Given the description of an element on the screen output the (x, y) to click on. 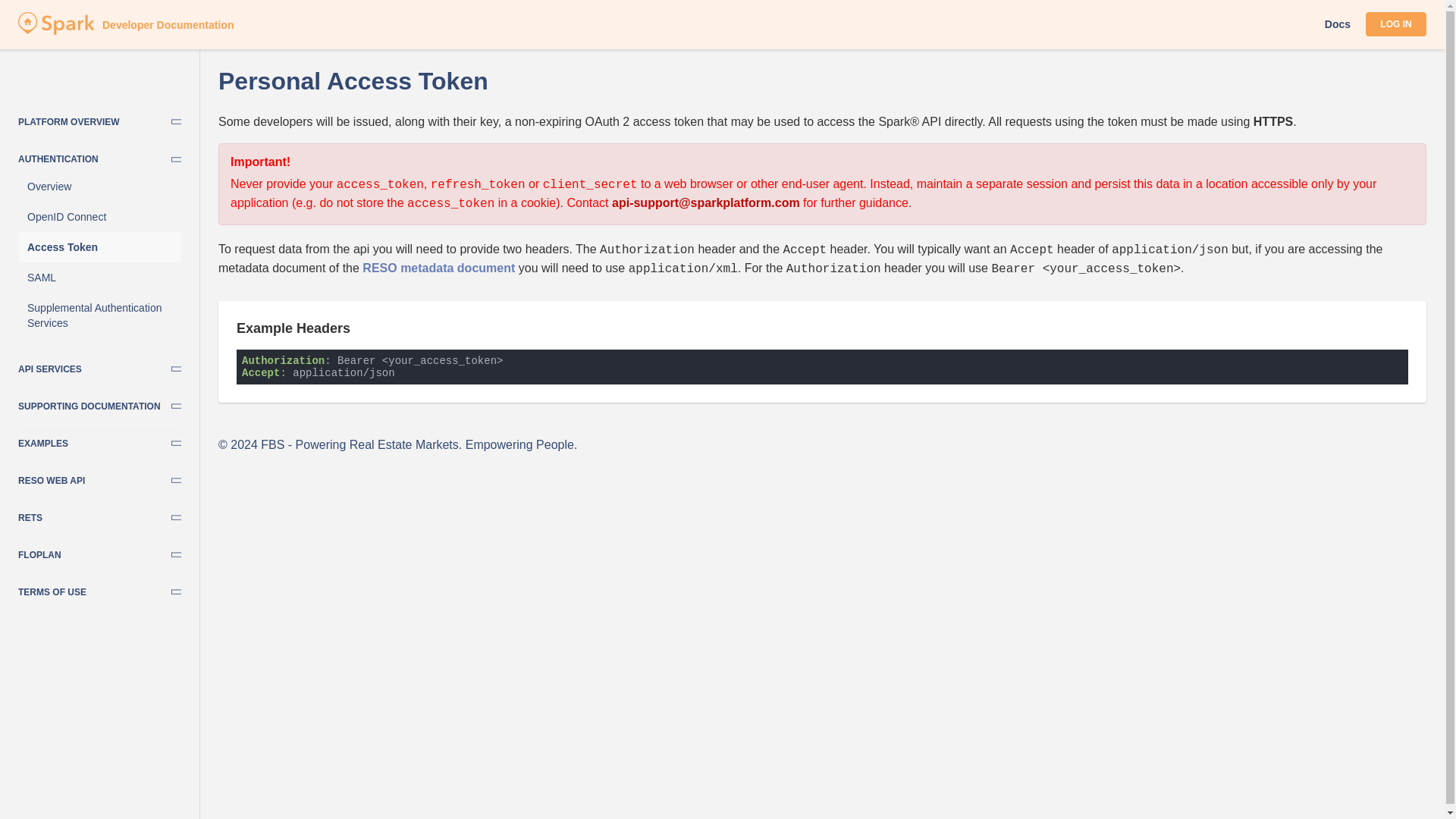
Click to show or hide menu items (98, 117)
Overview (98, 186)
SAML (98, 277)
Developer Documentation (55, 30)
Supplemental Authentication Services (98, 315)
Click to show or hide menu items (98, 365)
Click to show or hide menu items (98, 439)
Click to show or hide menu items (98, 476)
OpenID Connect (98, 216)
Click to show or hide menu items (98, 155)
Click to show or hide menu items (98, 514)
Docs (1337, 24)
Click to show or hide menu items (98, 402)
LOG IN (1395, 24)
Access Token (98, 246)
